Given the description of an element on the screen output the (x, y) to click on. 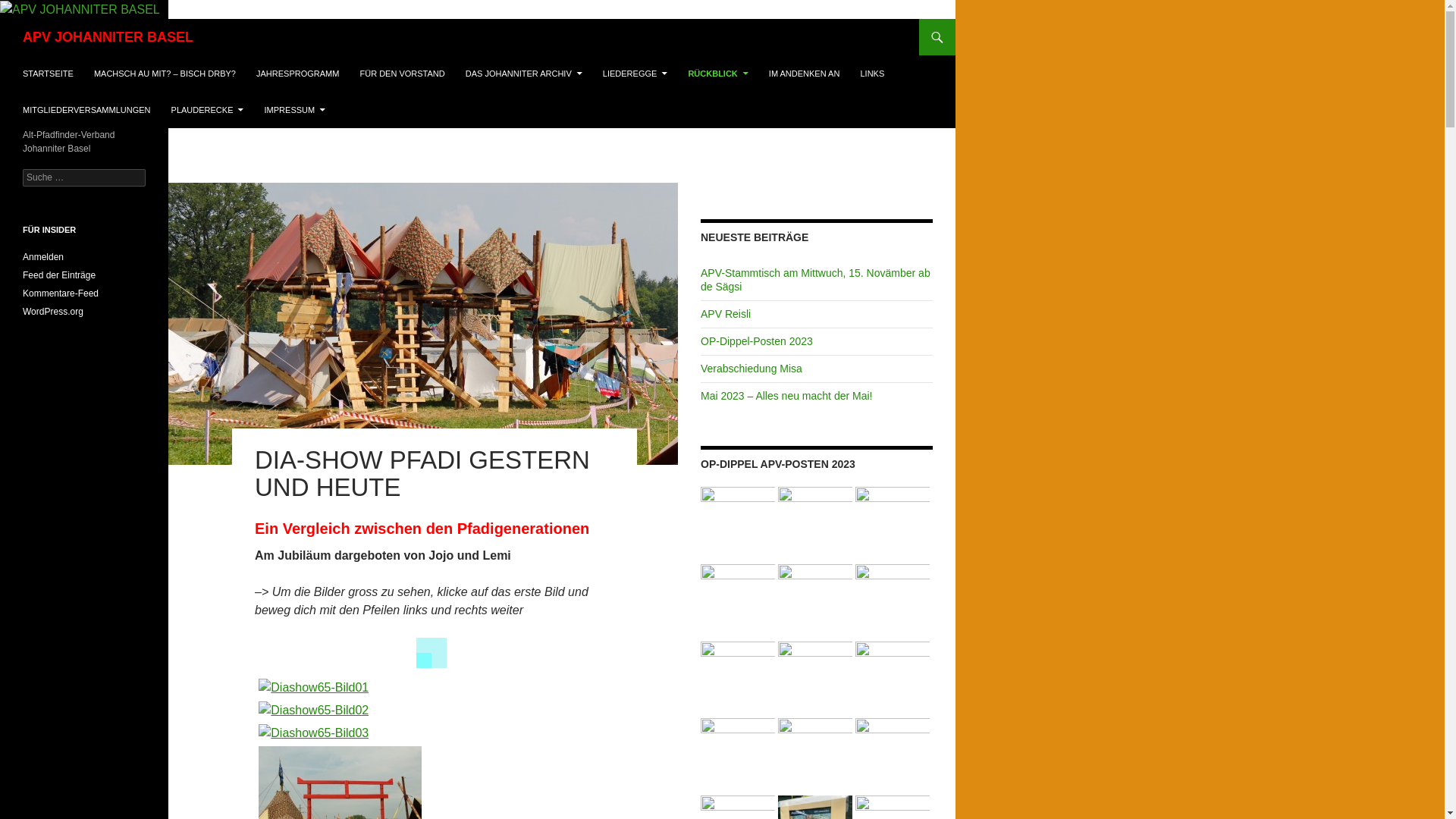
LINKS Element type: text (871, 73)
Verabschiedung Misa Element type: text (751, 368)
IM ANDENKEN AN Element type: text (804, 73)
JAHRESPROGRAMM Element type: text (297, 73)
Suche Element type: text (27, 8)
Diashow65-Bild03 Element type: hover (313, 733)
Diashow65-Bild02 Element type: hover (313, 710)
IMPRESSUM Element type: text (295, 109)
Diashow65-Bild02 Element type: hover (434, 709)
PLAUDERECKE Element type: text (207, 109)
Kommentare-Feed Element type: text (60, 293)
APV JOHANNITER BASEL Element type: text (107, 36)
WordPress.org Element type: text (52, 311)
Suchen Element type: text (3, 18)
Diashow65-Bild03 Element type: hover (434, 732)
Diashow65-Bild01 Element type: hover (434, 686)
STARTSEITE Element type: text (47, 73)
Anmelden Element type: text (42, 256)
Diashow65-Bild01 Element type: hover (313, 687)
LIEDEREGGE Element type: text (635, 73)
DAS JOHANNITER ARCHIV Element type: text (523, 73)
OP-Dippel-Posten 2023 Element type: text (756, 341)
ZUM INHALT SPRINGEN Element type: text (21, 54)
APV Reisli Element type: text (725, 313)
MITGLIEDERVERSAMMLUNGEN Element type: text (86, 109)
